Given the description of an element on the screen output the (x, y) to click on. 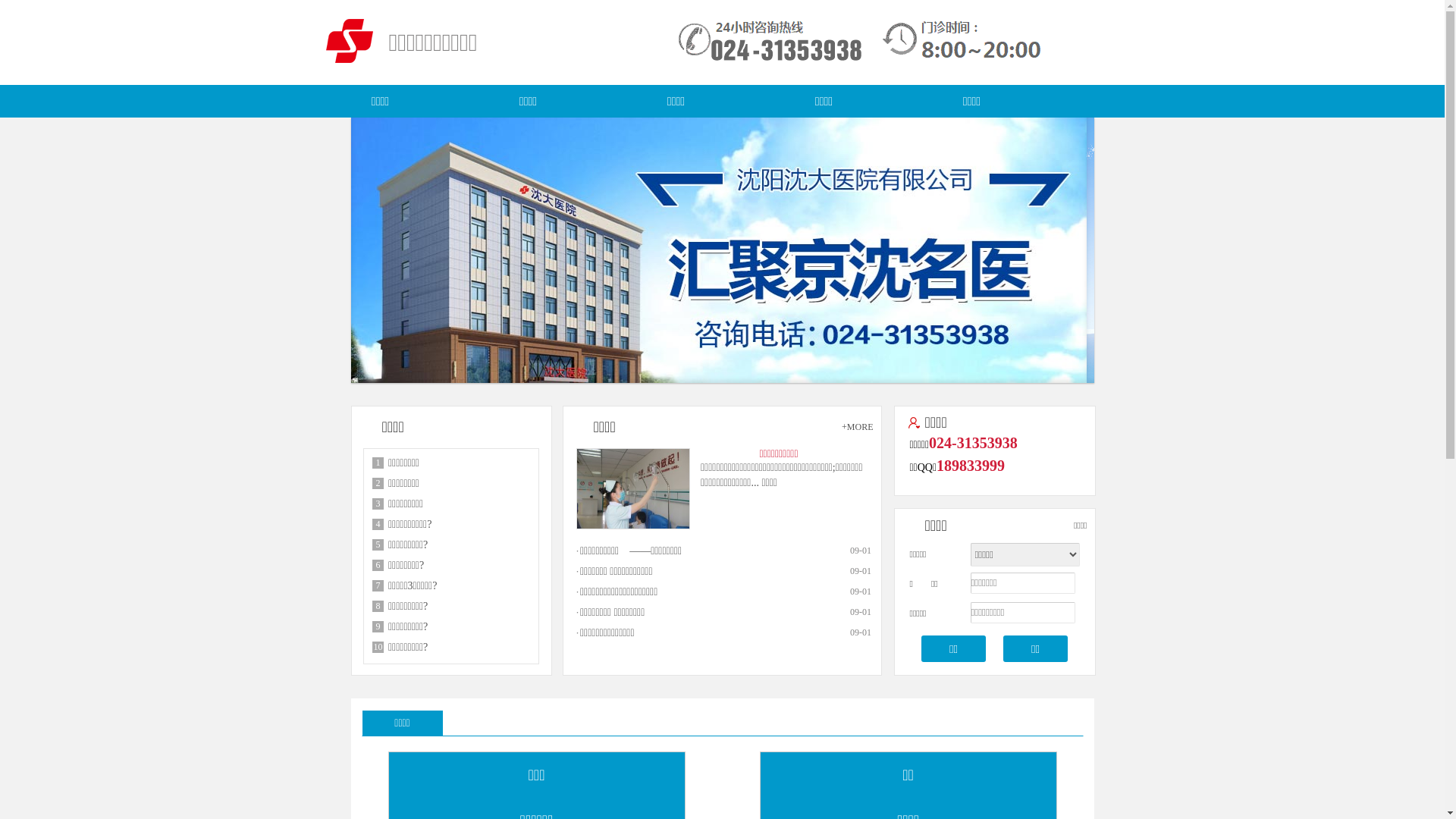
+MORE Element type: text (856, 426)
